Given the description of an element on the screen output the (x, y) to click on. 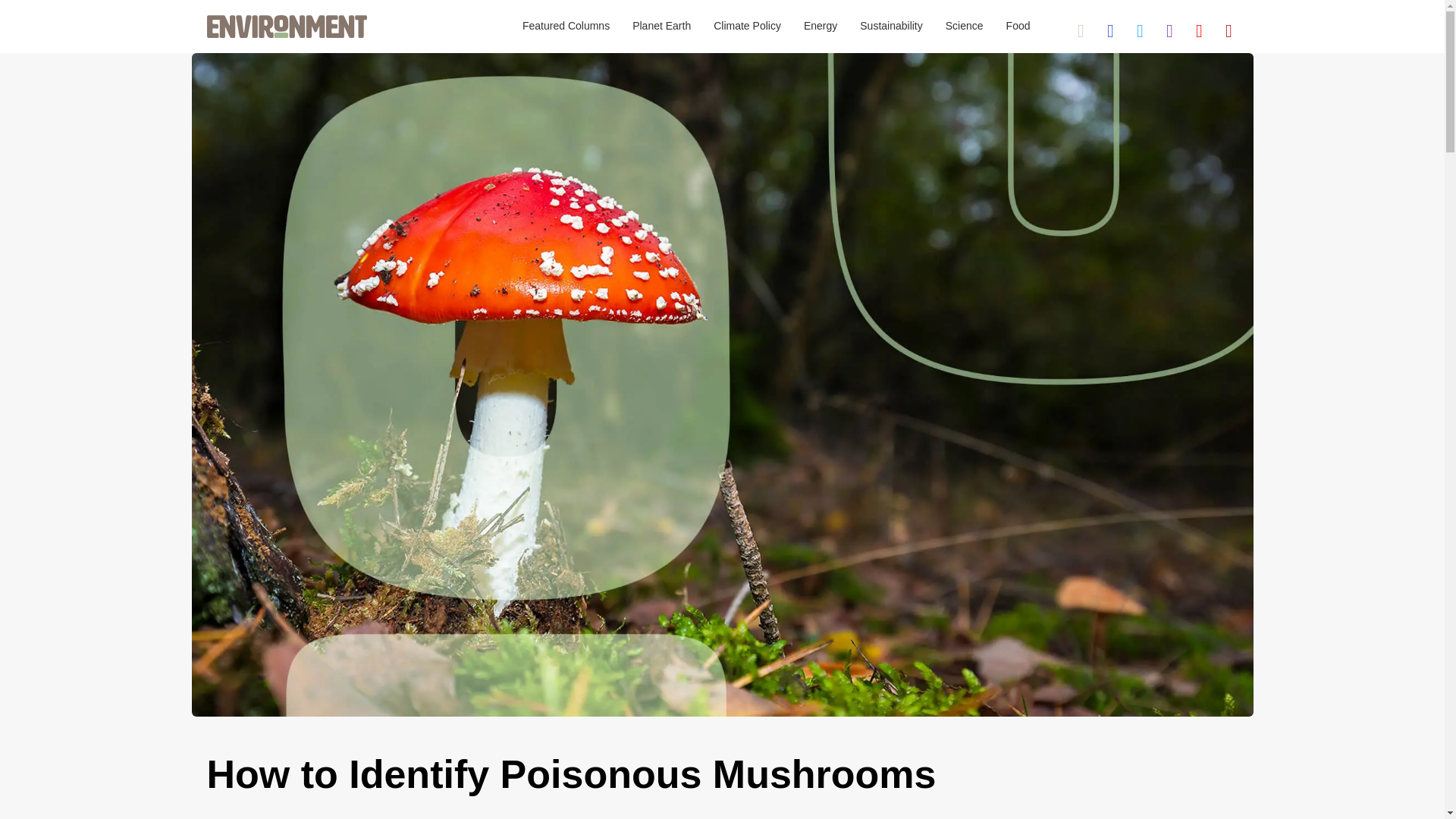
Featured Columns (566, 26)
Planet Earth (660, 26)
Energy (820, 26)
Science (964, 26)
Sustainability (891, 26)
Food (1018, 26)
Climate Policy (746, 26)
